Given the description of an element on the screen output the (x, y) to click on. 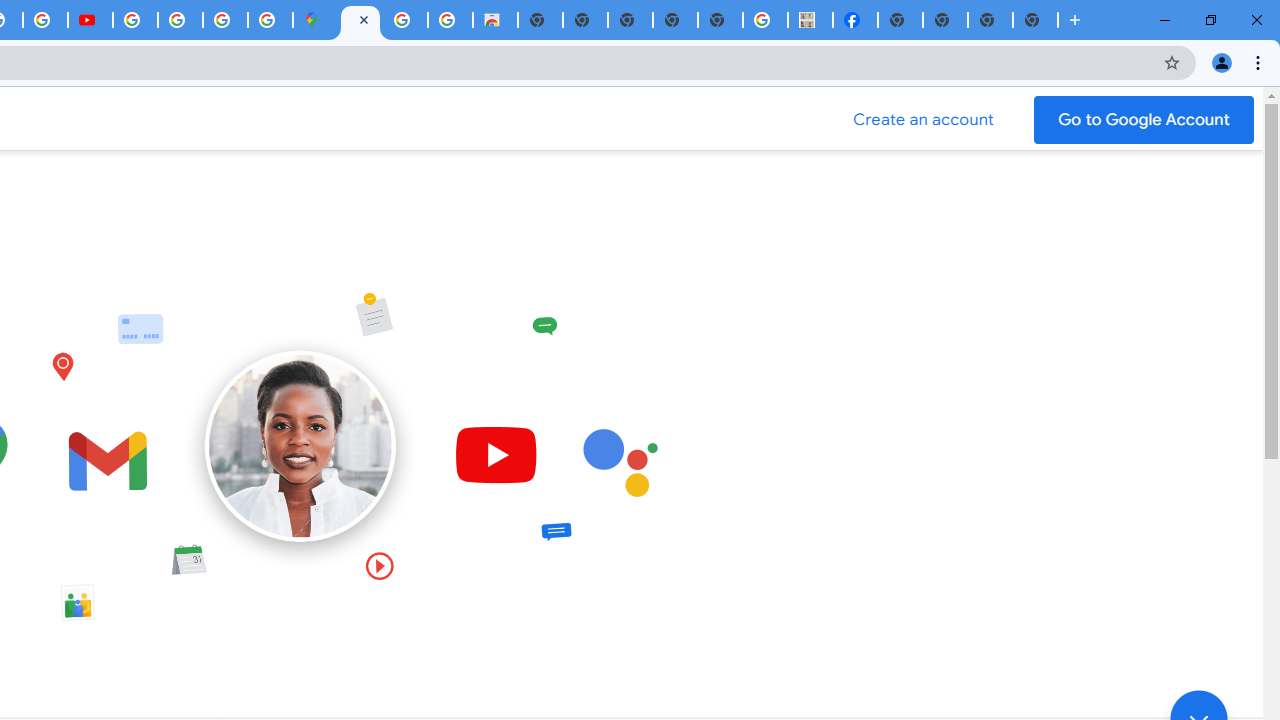
Chrome Web Store - Shopping (495, 20)
How Chrome protects your passwords - Google Chrome Help (134, 20)
MILEY CYRUS. (810, 20)
Go to your Google Account (1144, 119)
